Given the description of an element on the screen output the (x, y) to click on. 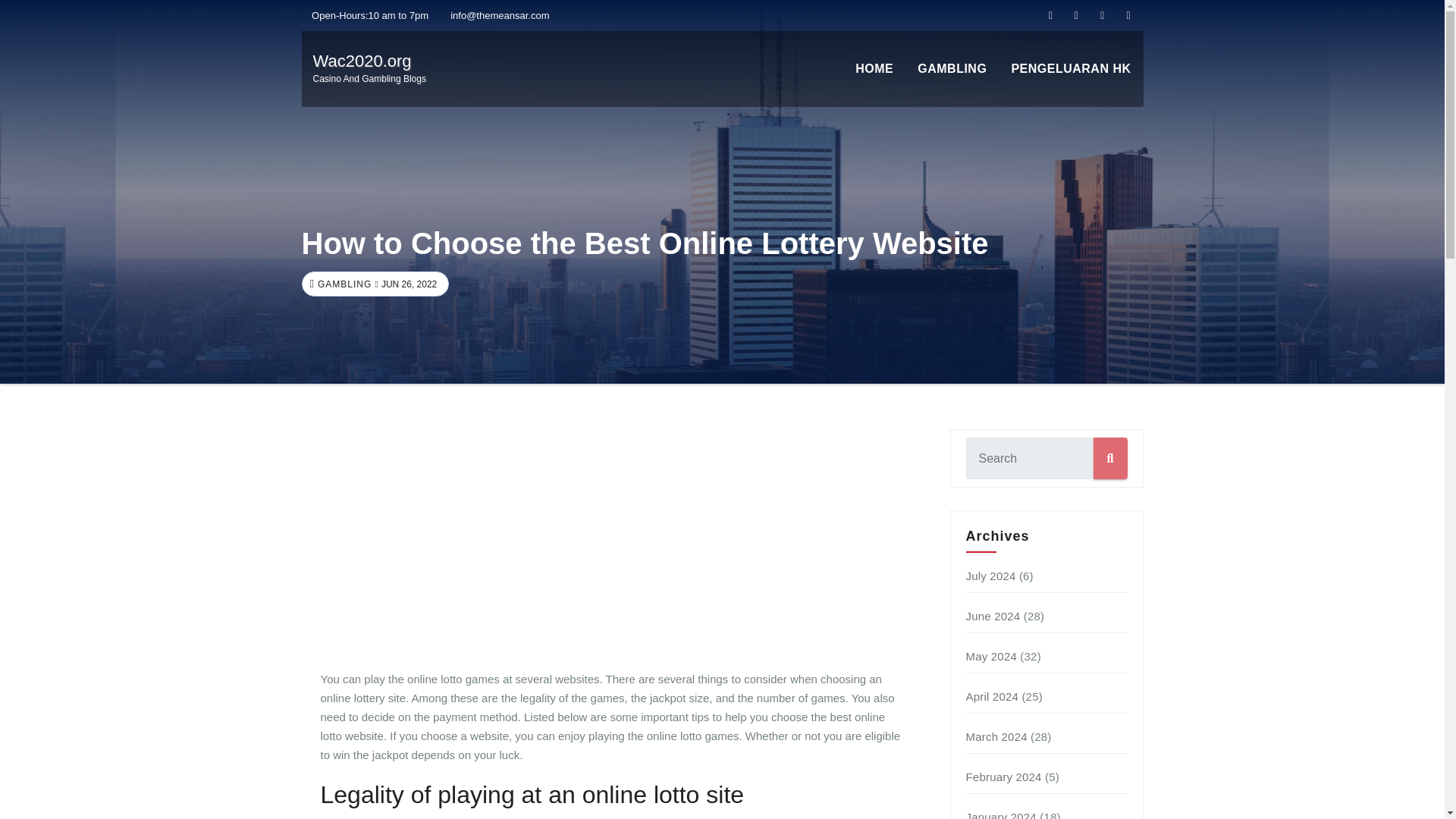
Pengeluaran HK (1070, 69)
GAMBLING (951, 69)
GAMBLING (342, 284)
PENGELUARAN HK (1070, 69)
Gambling (369, 68)
January 2024 (951, 69)
Open-Hours:10 am to 7pm (1001, 814)
March 2024 (365, 15)
June 2024 (996, 736)
May 2024 (993, 615)
July 2024 (991, 656)
February 2024 (991, 575)
April 2024 (1004, 776)
